Given the description of an element on the screen output the (x, y) to click on. 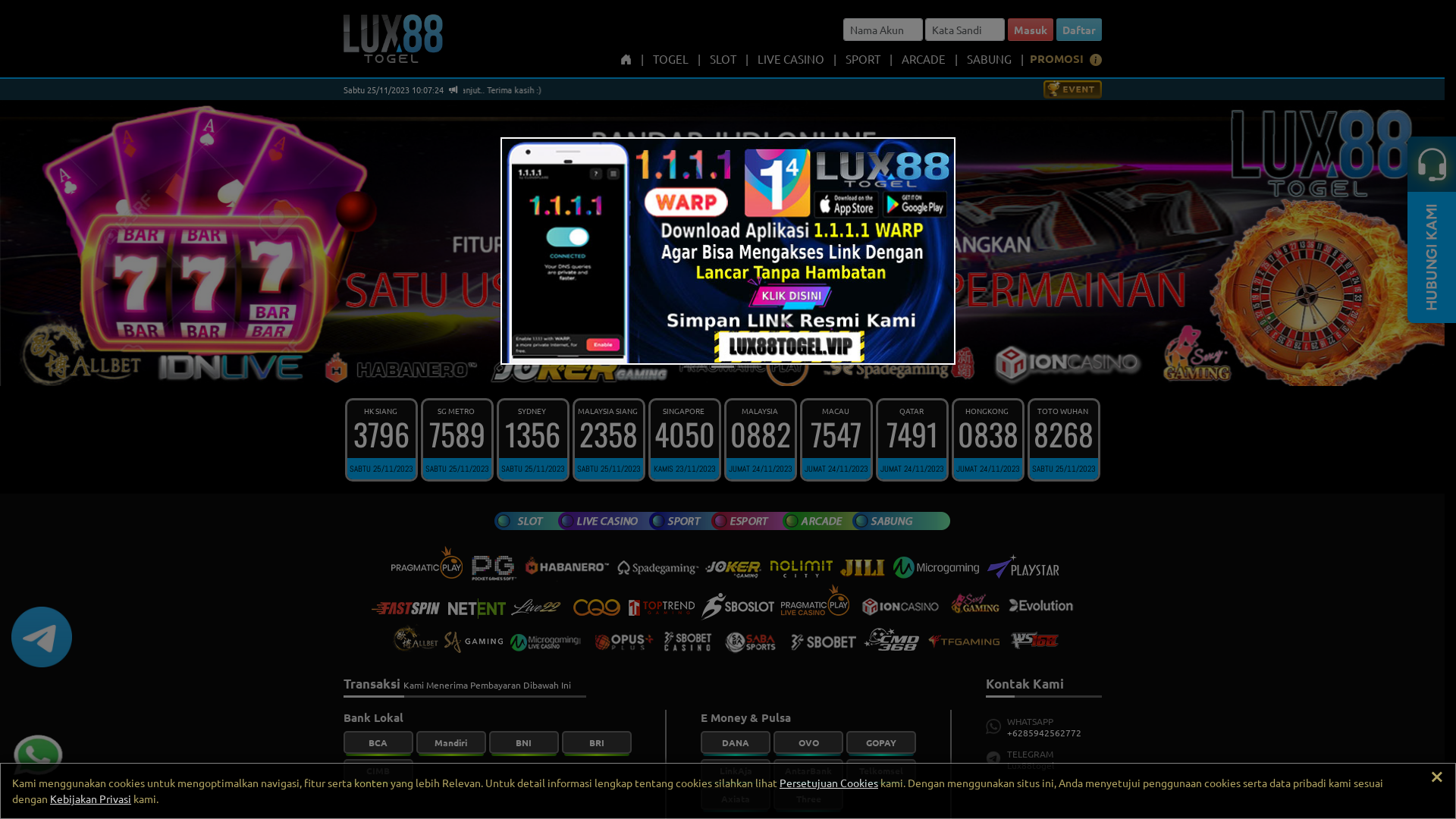
SABUNG Element type: text (988, 58)
QATAR 
7491
JUMAT 24/11/2023 Element type: text (911, 439)
HK SIANG 
3796
SABTU 25/11/2023 Element type: text (380, 439)
TOTO WUHAN 
8268
SABTU 25/11/2023 Element type: text (1062, 439)
SINGAPORE 
4050
KAMIS 23/11/2023 Element type: text (683, 439)
SG METRO 
7589
SABTU 25/11/2023 Element type: text (456, 439)
PROMOSI Element type: text (1056, 58)
Persetujuan Cookies Element type: text (828, 782)
SLOT Element type: text (722, 58)
ARCADE Element type: text (922, 58)
LIVE CASINO Element type: text (789, 58)
SYDNEY 
1356
SABTU 25/11/2023 Element type: text (531, 439)
TOGEL Element type: text (669, 58)
HONGKONG 
0838
JUMAT 24/11/2023 Element type: text (986, 439)
Kebijakan Privasi Element type: text (90, 798)
Daftar Element type: text (1078, 29)
MACAU 
7547
JUMAT 24/11/2023 Element type: text (835, 439)
Masuk Element type: text (1029, 29)
Informasi Element type: hover (1094, 60)
MALAYSIA 
0882
JUMAT 24/11/2023 Element type: text (759, 439)
MALAYSIA SIANG 
2358
SABTU 25/11/2023 Element type: text (607, 439)
SPORT Element type: text (861, 58)
